Given the description of an element on the screen output the (x, y) to click on. 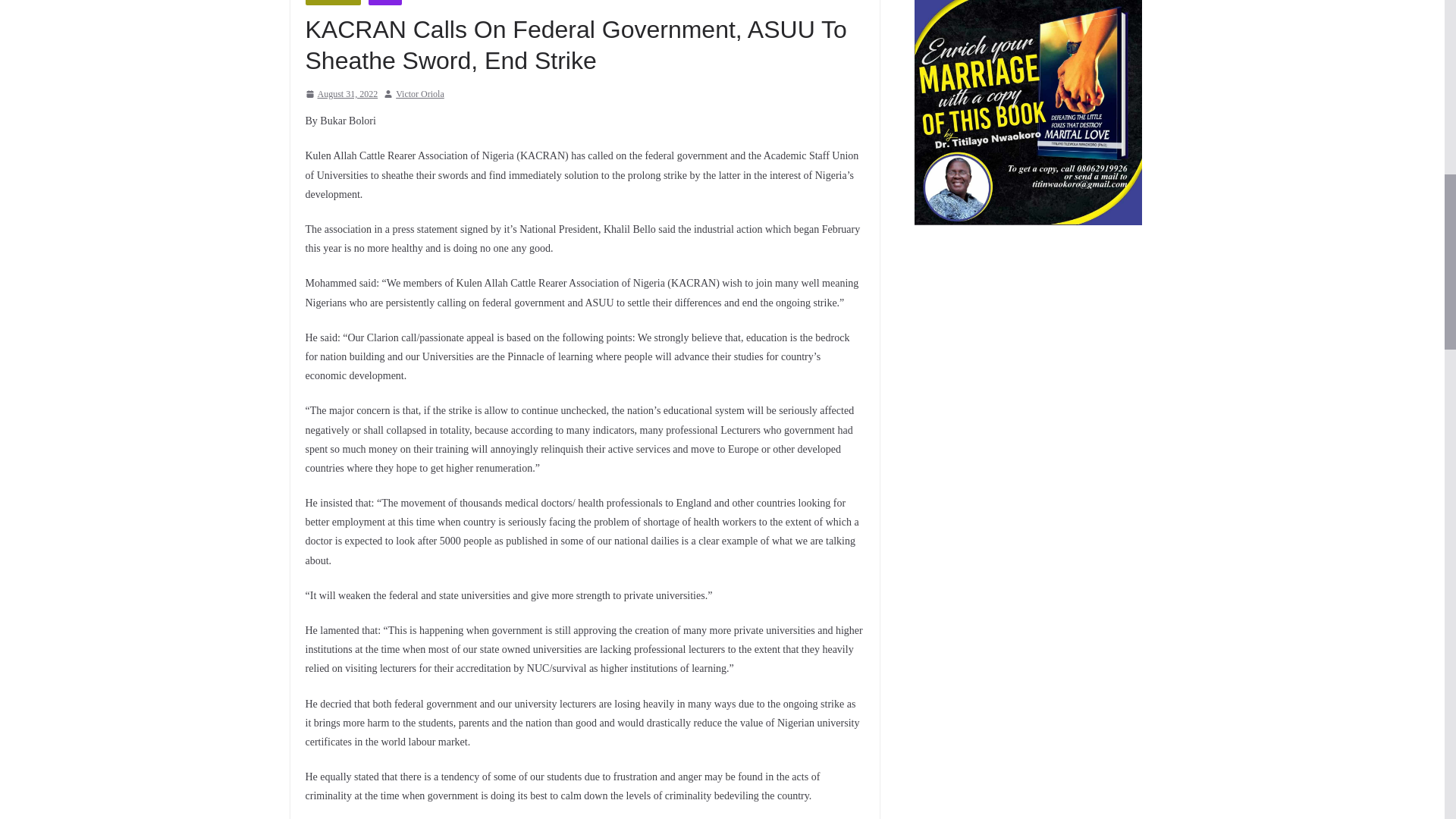
Victor Oriola (420, 94)
NEWS (384, 2)
EDUCATION (331, 2)
Victor Oriola (420, 94)
6:27 am (340, 94)
August 31, 2022 (340, 94)
